Given the description of an element on the screen output the (x, y) to click on. 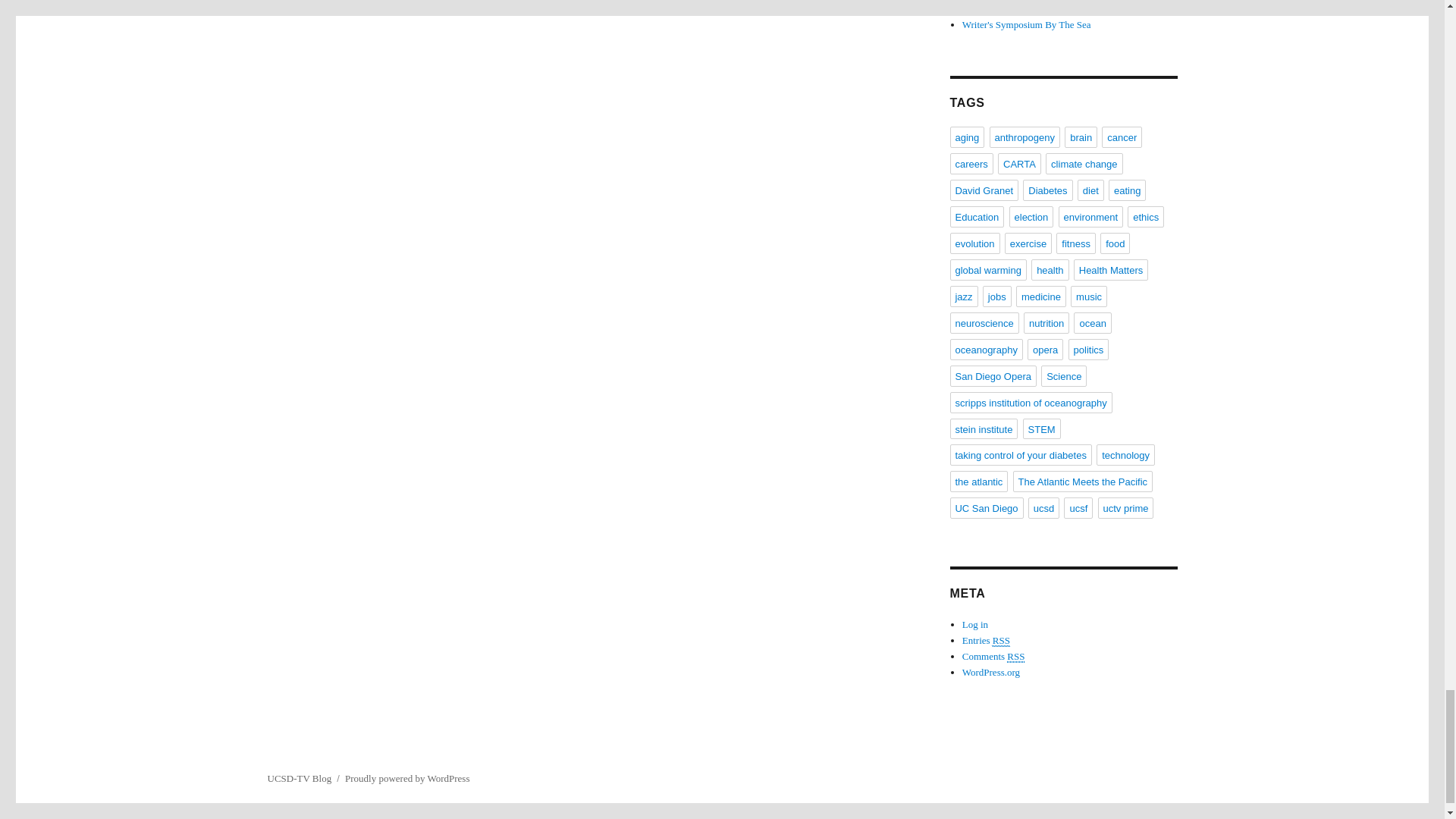
Really Simple Syndication (1016, 656)
Really Simple Syndication (1001, 640)
